Given the description of an element on the screen output the (x, y) to click on. 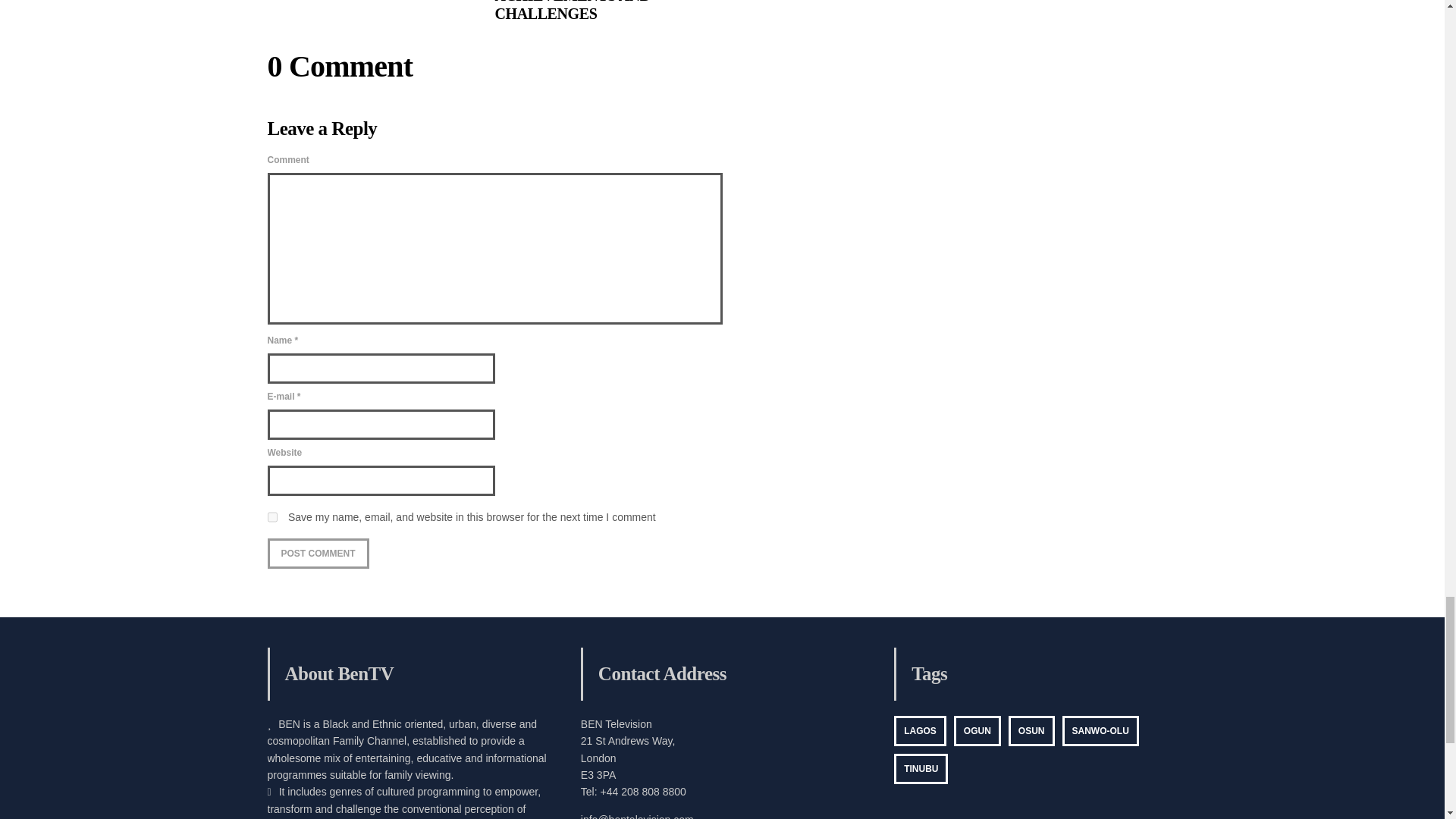
yes (271, 517)
POST COMMENT (317, 553)
